Given the description of an element on the screen output the (x, y) to click on. 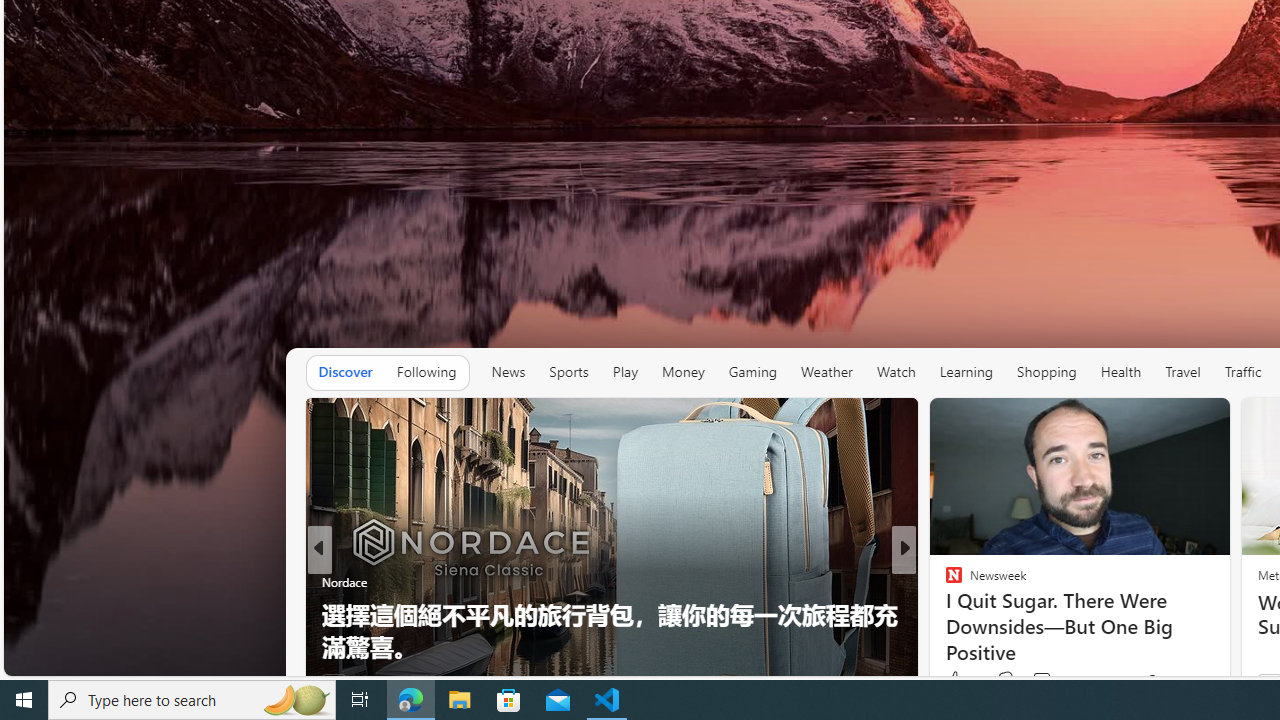
Learning (965, 371)
View comments 84 Comment (1051, 681)
Dagens News (US) (944, 614)
View comments 18 Comment (1042, 681)
Health (1121, 372)
View comments 84 Comment (1042, 681)
View comments 25 Comment (1051, 681)
View comments 307 Comment (1048, 681)
View comments 25 Comment (1042, 681)
